Given the description of an element on the screen output the (x, y) to click on. 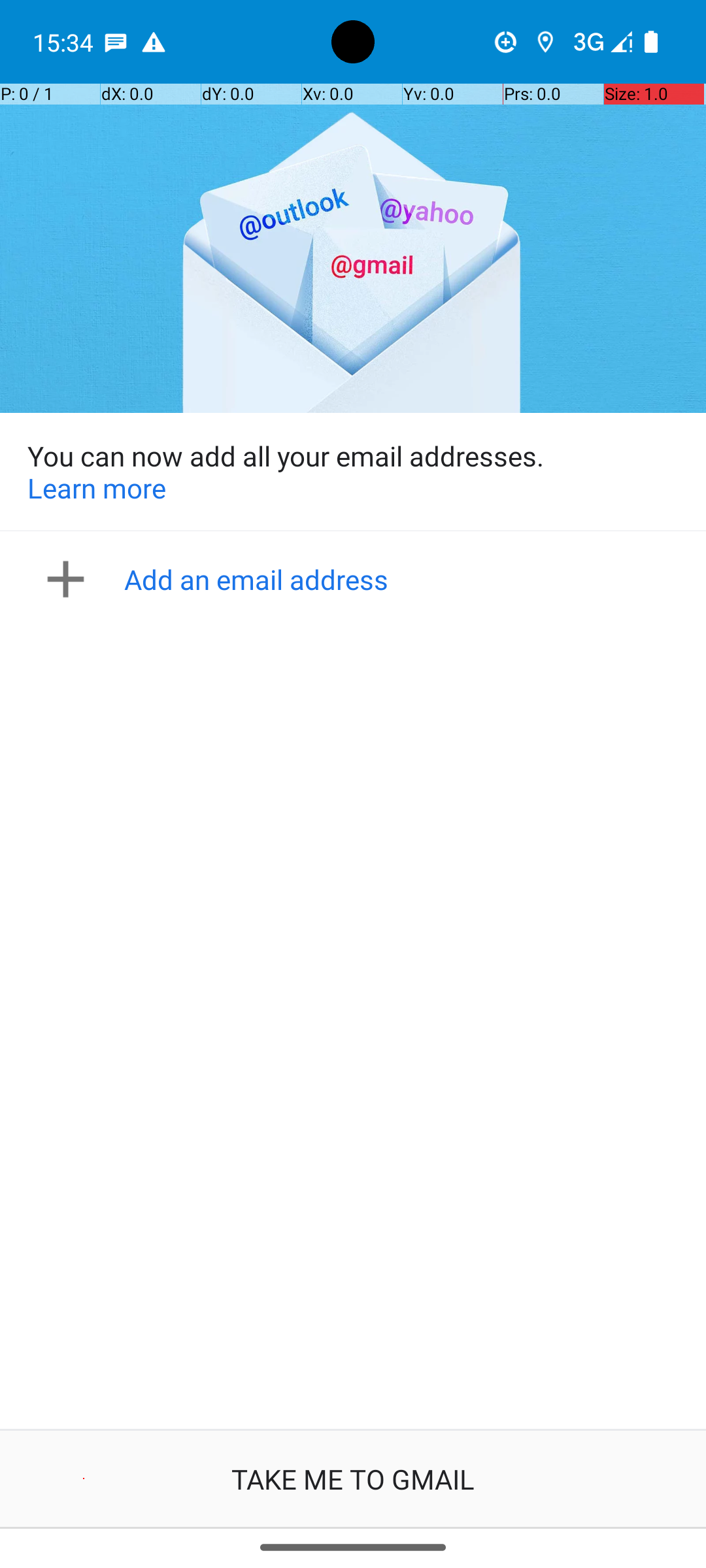
You can now add all your email addresses. Learn more Element type: android.widget.TextView (352, 471)
TAKE ME TO GMAIL Element type: android.widget.TextView (353, 1478)
Add an email address Element type: android.widget.TextView (356, 579)
